Given the description of an element on the screen output the (x, y) to click on. 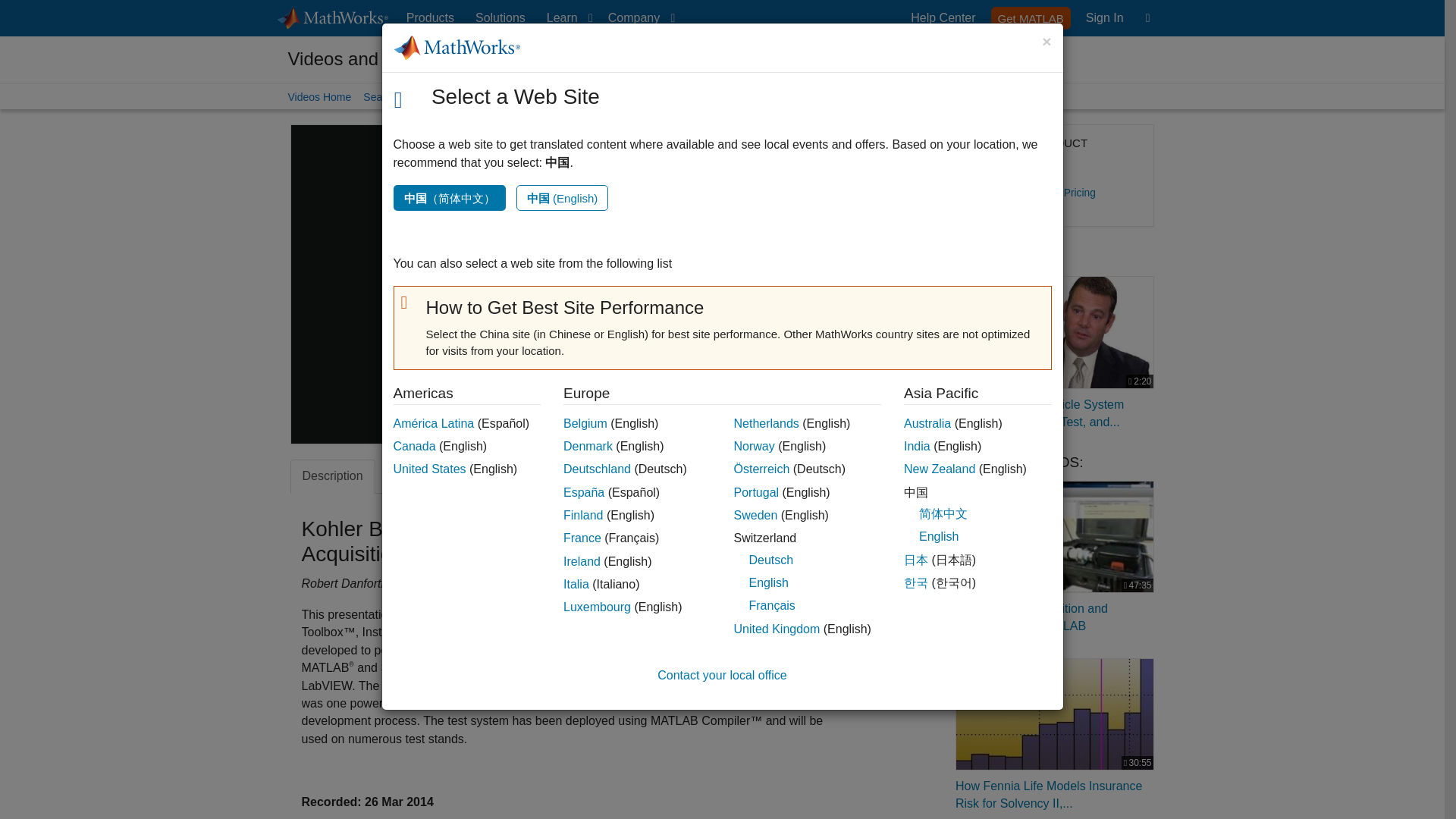
Products (430, 18)
Get MATLAB (1104, 18)
Learn (1030, 17)
Solutions (566, 18)
Sign In to Your MathWorks Account (499, 18)
Company (1104, 18)
Play Video (638, 18)
Help Center (574, 284)
